Given the description of an element on the screen output the (x, y) to click on. 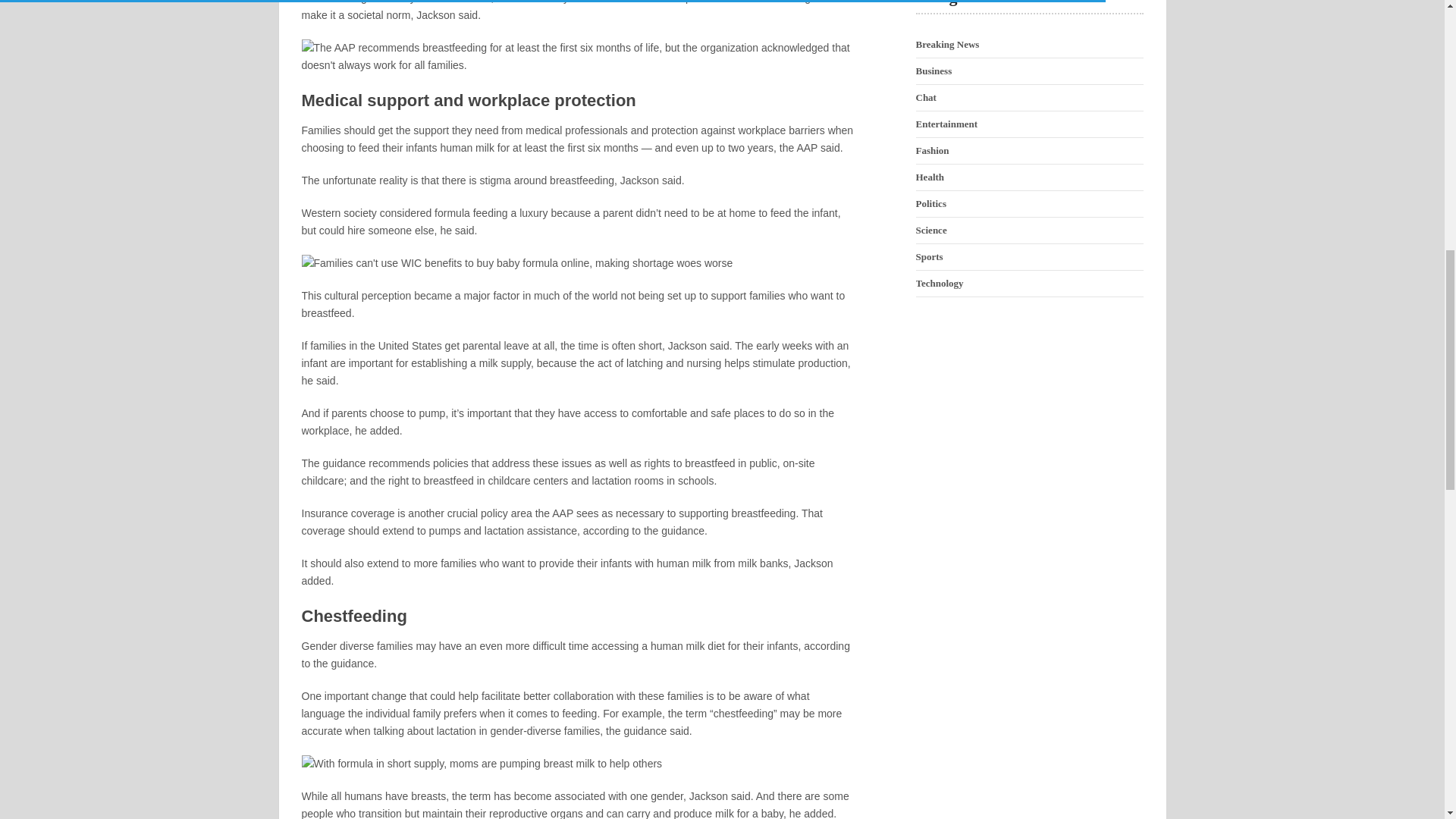
Entertainment (946, 123)
Breaking News (947, 43)
Sports (929, 256)
Fashion (932, 150)
Chat (925, 97)
Politics (930, 203)
Science (931, 229)
Technology (939, 283)
Business (933, 70)
Health (929, 176)
